Given the description of an element on the screen output the (x, y) to click on. 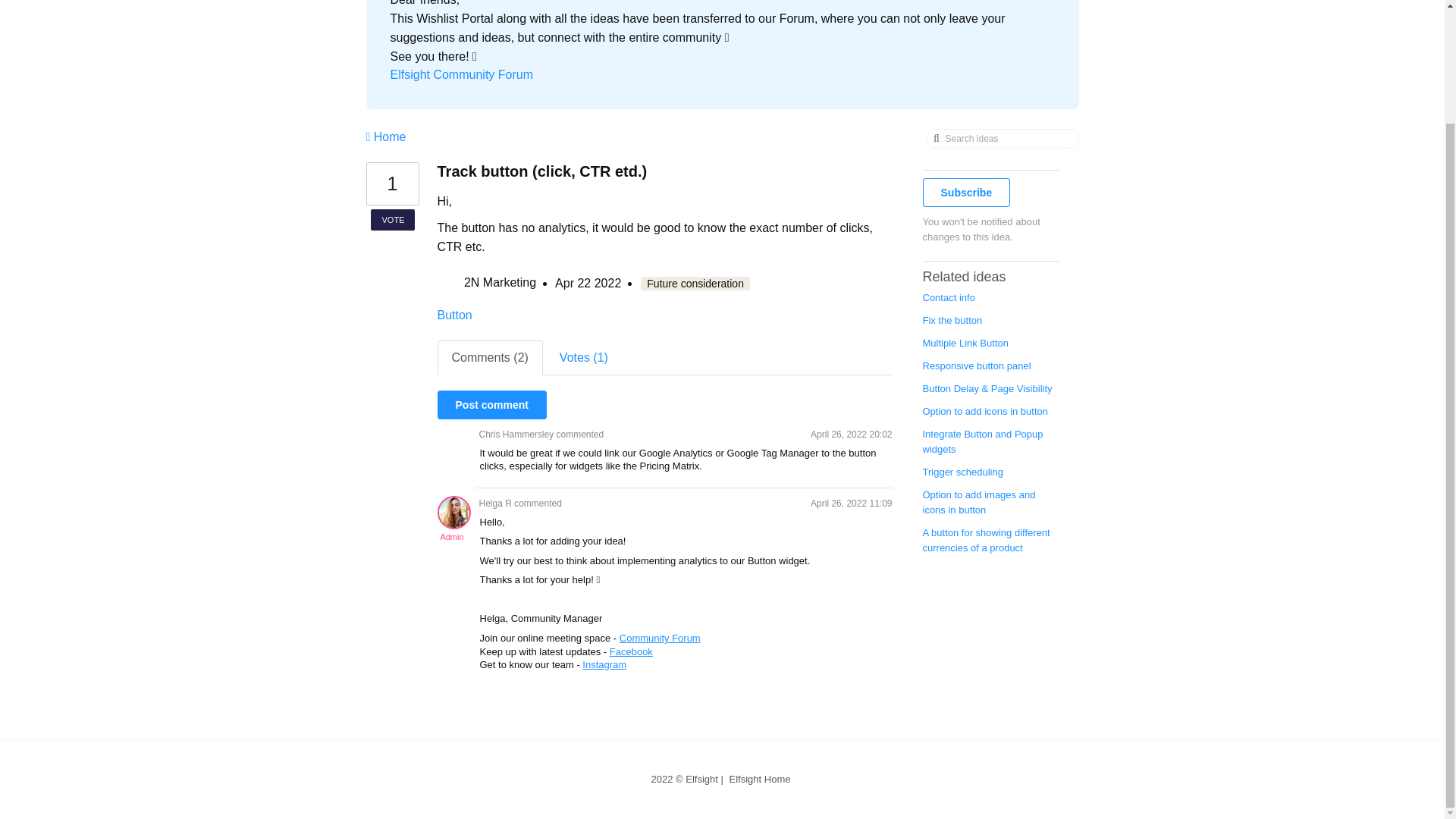
Future consideration (694, 283)
Trigger scheduling (962, 471)
Option to add images and icons in button (978, 501)
Elfsight Community Forum (461, 74)
Post comment (491, 404)
Responsive button panel (975, 365)
Multiple Link Button (964, 342)
Button (453, 314)
Fix the button (951, 319)
Community Forum (660, 637)
Option to add icons in button (984, 410)
Subscribe (965, 192)
A button for showing different currencies of a product (985, 540)
Home (392, 196)
